Given the description of an element on the screen output the (x, y) to click on. 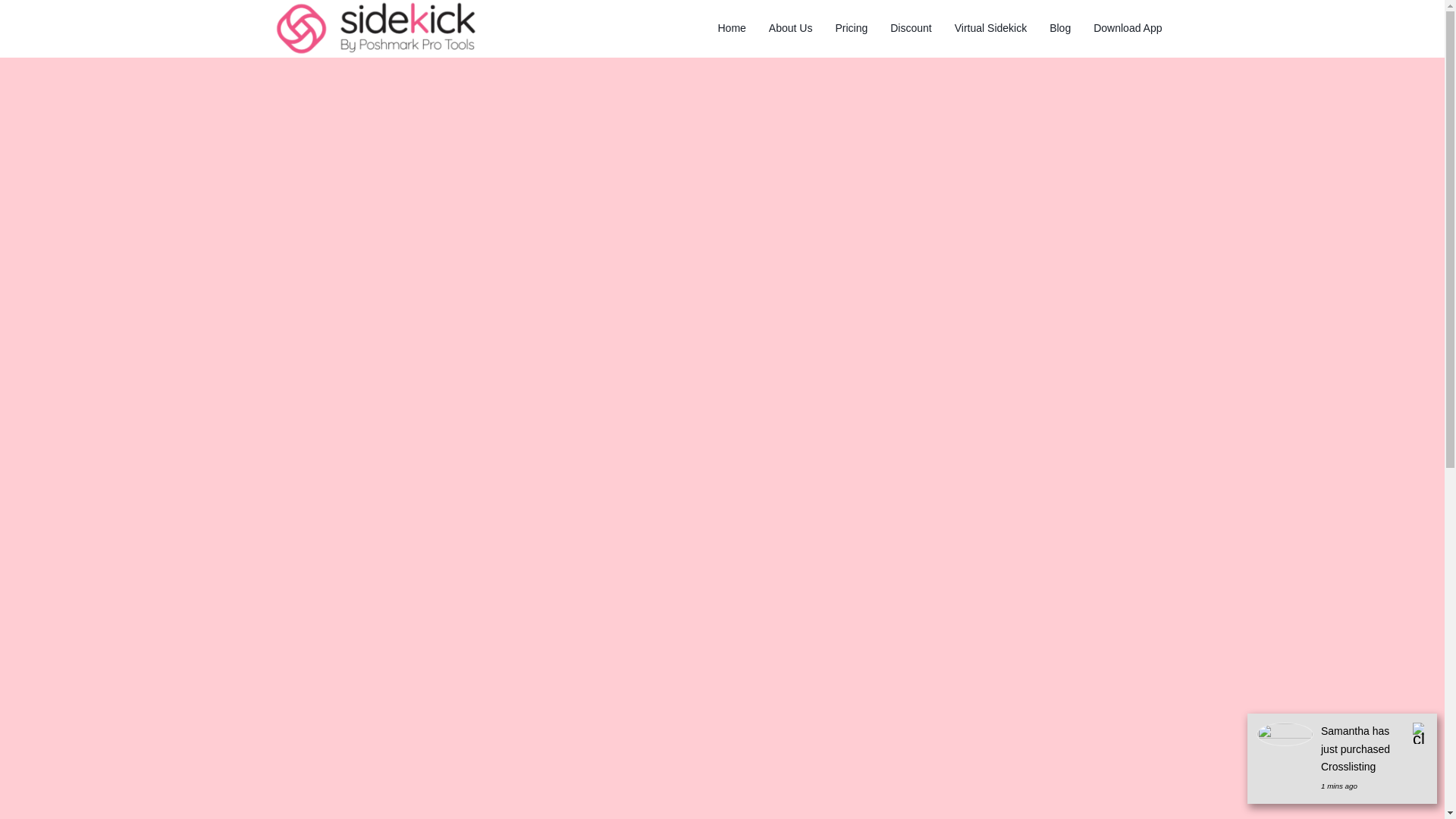
Download App (1127, 28)
Discount (910, 28)
Home (731, 28)
Blog (1059, 28)
Virtual Sidekick (990, 28)
Pricing (851, 28)
About Us (790, 28)
